Given the description of an element on the screen output the (x, y) to click on. 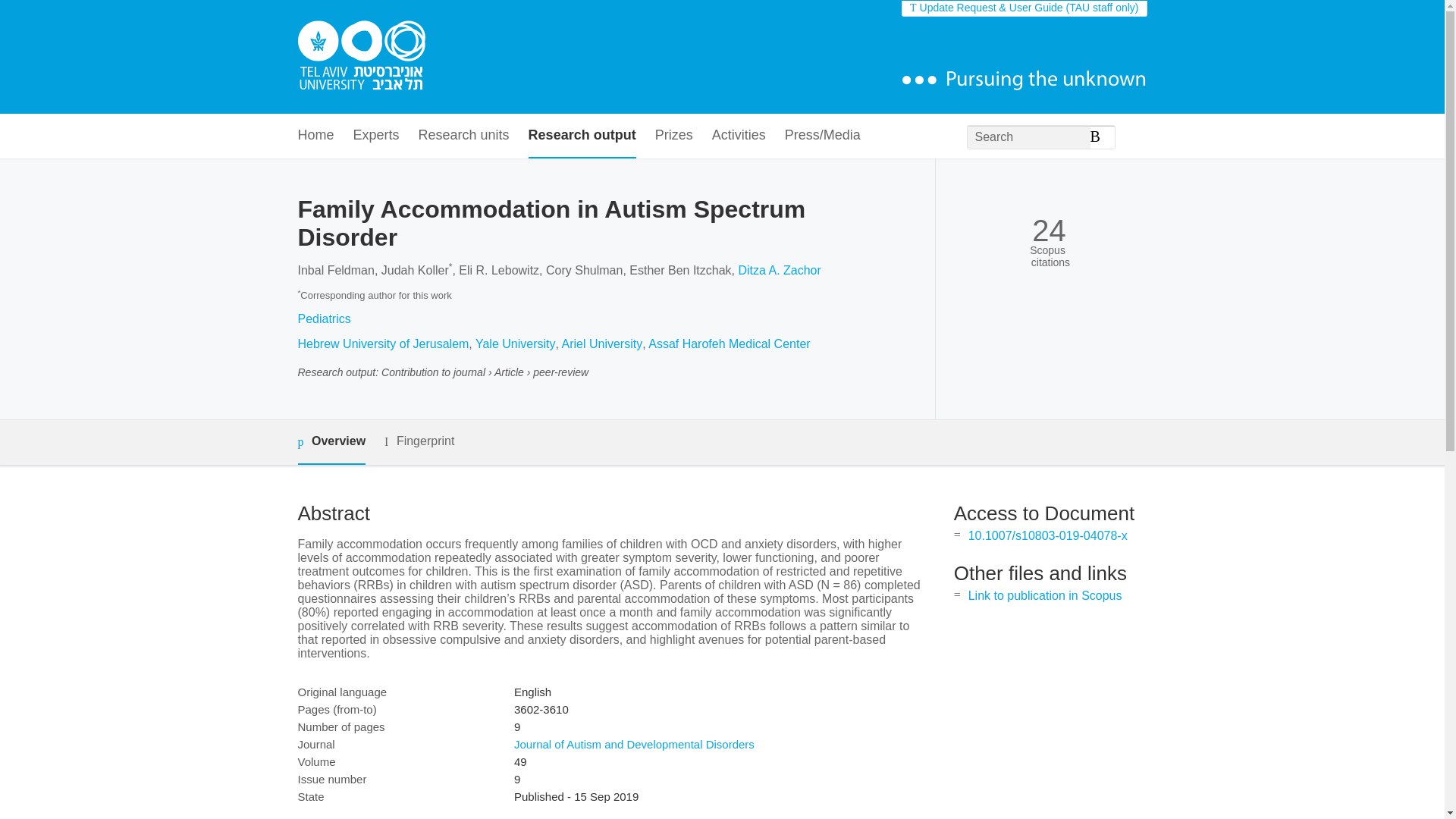
Assaf Harofeh Medical Center (728, 343)
Journal of Autism and Developmental Disorders (633, 744)
Activities (738, 135)
Research output (582, 135)
Ariel University (601, 343)
Hebrew University of Jerusalem (382, 343)
Ditza A. Zachor (779, 269)
Link to publication in Scopus (1045, 594)
Research units (464, 135)
